Given the description of an element on the screen output the (x, y) to click on. 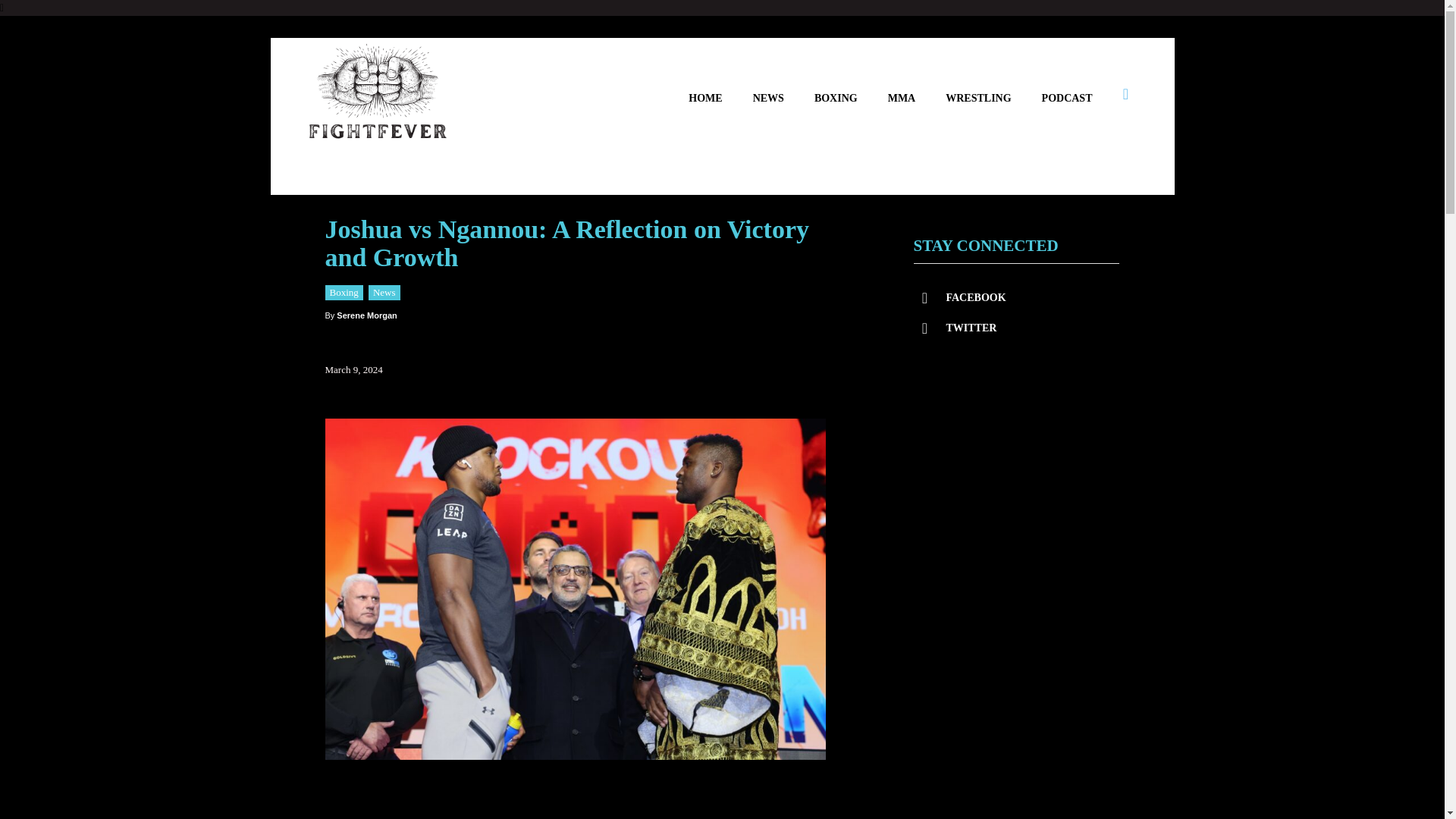
Boxing (343, 276)
News (384, 276)
WRESTLING (977, 82)
Serene Morgan (366, 299)
